Given the description of an element on the screen output the (x, y) to click on. 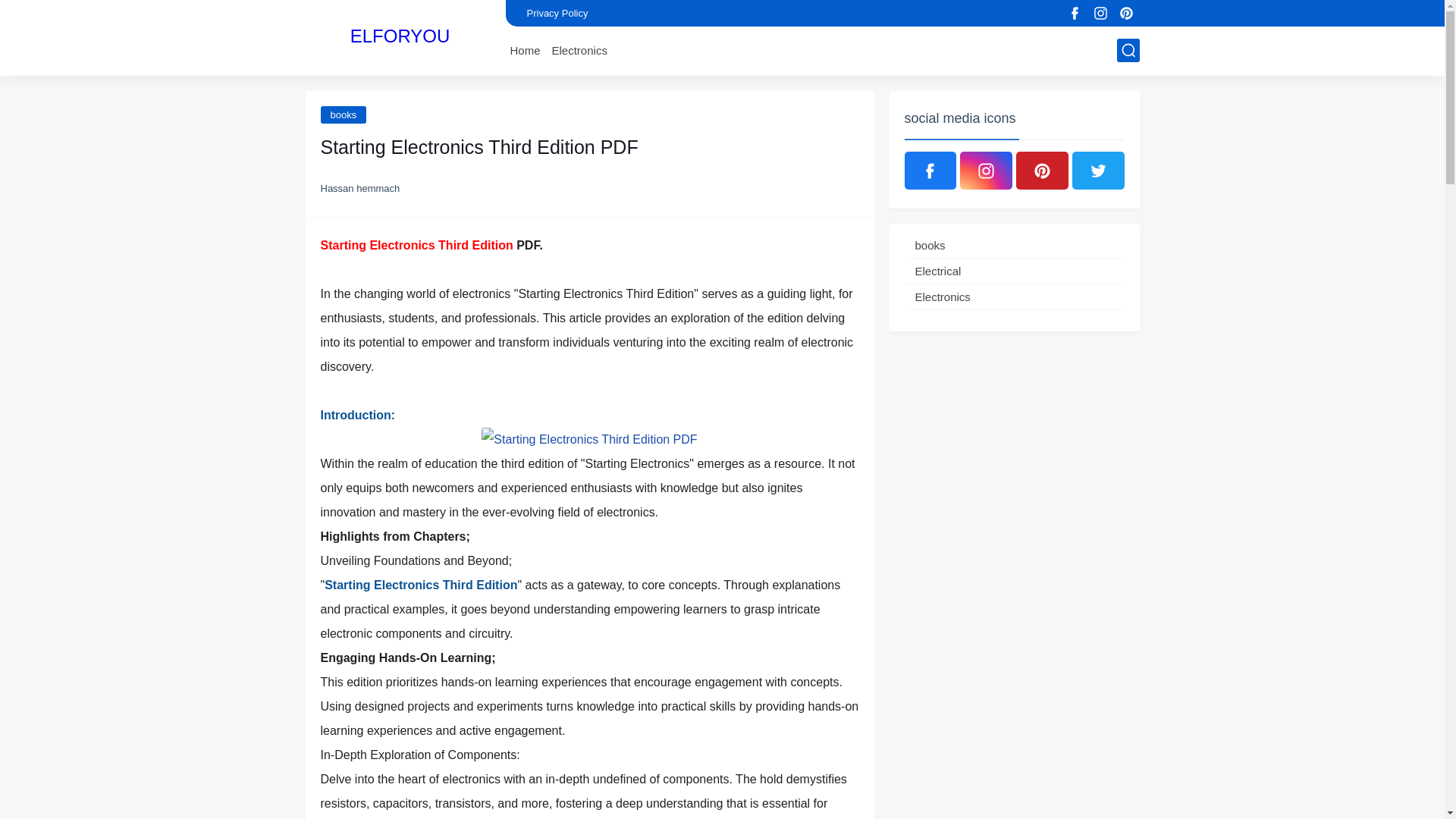
Starting Electronics Third Edition (589, 439)
books (1014, 245)
Home (524, 50)
ELFORYOU (399, 35)
ELFORYOU (399, 35)
books (343, 114)
Electronics (1014, 296)
Home (524, 50)
Privacy Policy (556, 12)
Electronics (579, 50)
Electronics (579, 50)
Electrical (1014, 270)
books (343, 114)
